Given the description of an element on the screen output the (x, y) to click on. 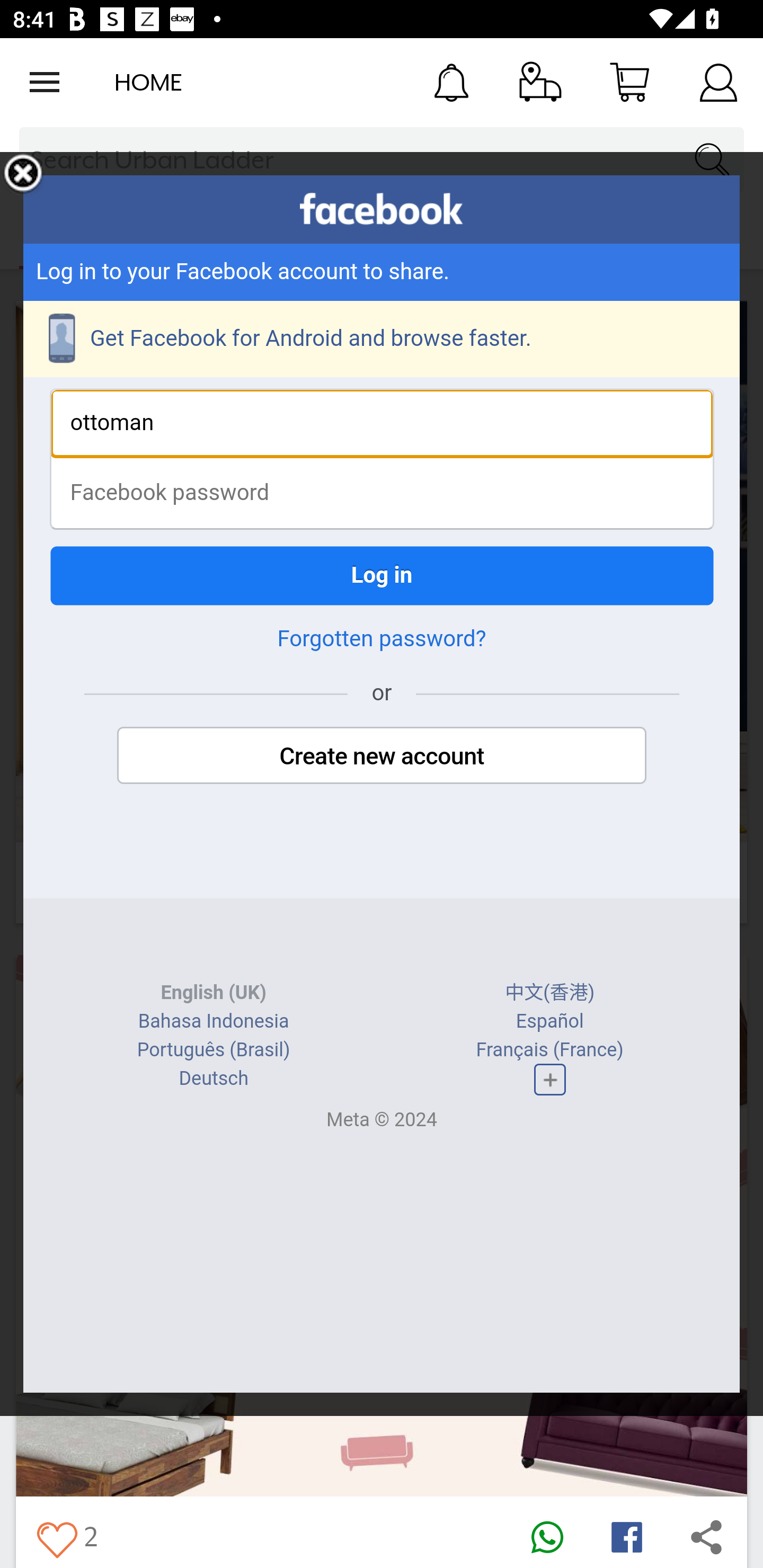
facebook (381, 208)
Get Facebook for Android and browse faster. (381, 339)
ottoman (381, 423)
Log in (381, 575)
Forgotten password? (381, 638)
Create new account (381, 755)
中文(香港) (550, 993)
Bahasa Indonesia (214, 1021)
Español (549, 1021)
Português (Brasil) (212, 1049)
Français (France) (549, 1049)
Complete list of languages (548, 1079)
Deutsch (212, 1078)
